Given the description of an element on the screen output the (x, y) to click on. 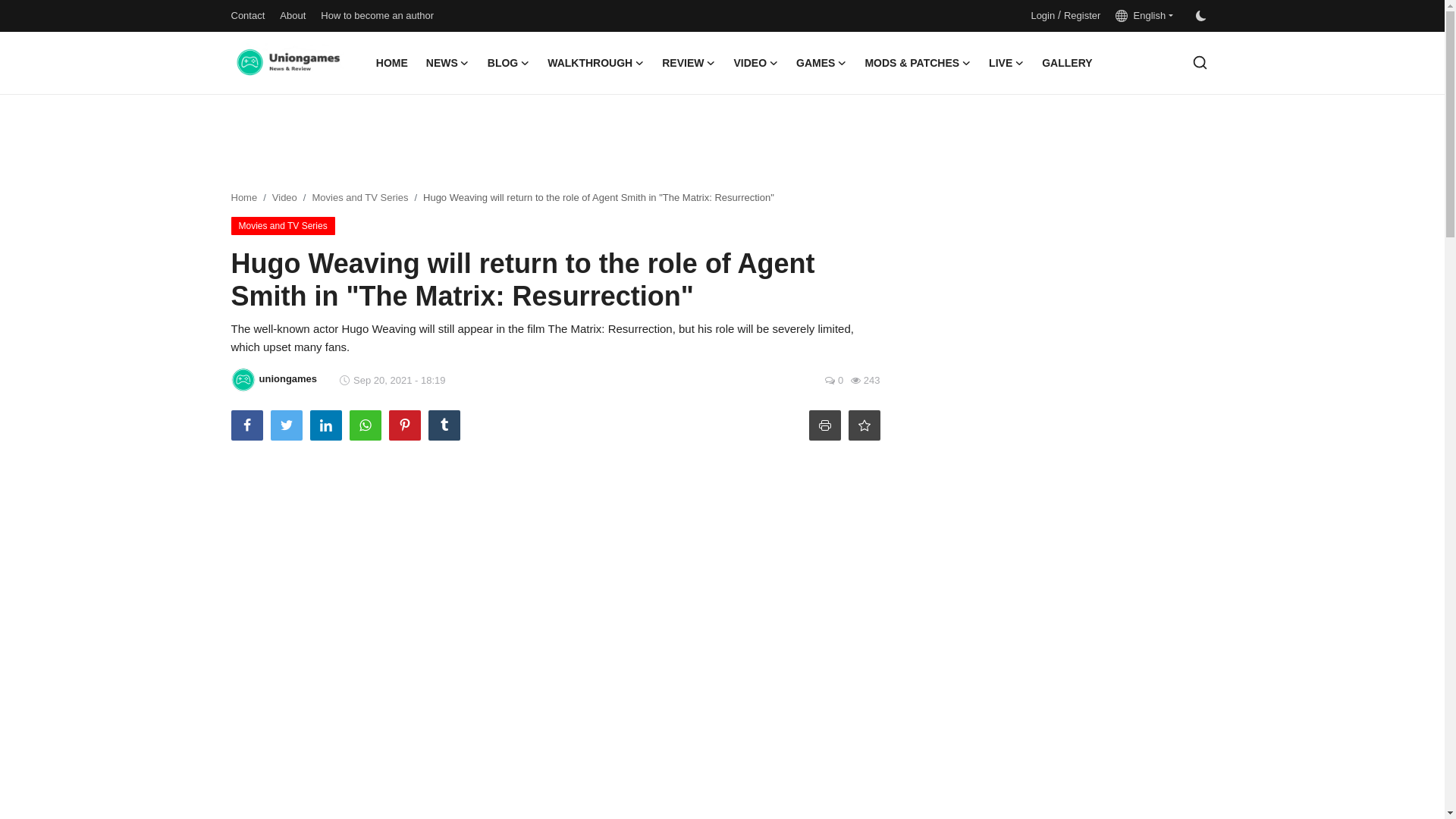
  English (1143, 15)
Login (1042, 15)
Add to Reading List (863, 425)
GALLERY (1066, 62)
BLOG (508, 62)
Advertisement (721, 143)
VIDEO (755, 62)
GAMES (821, 62)
About (292, 15)
Register (1082, 15)
